Given the description of an element on the screen output the (x, y) to click on. 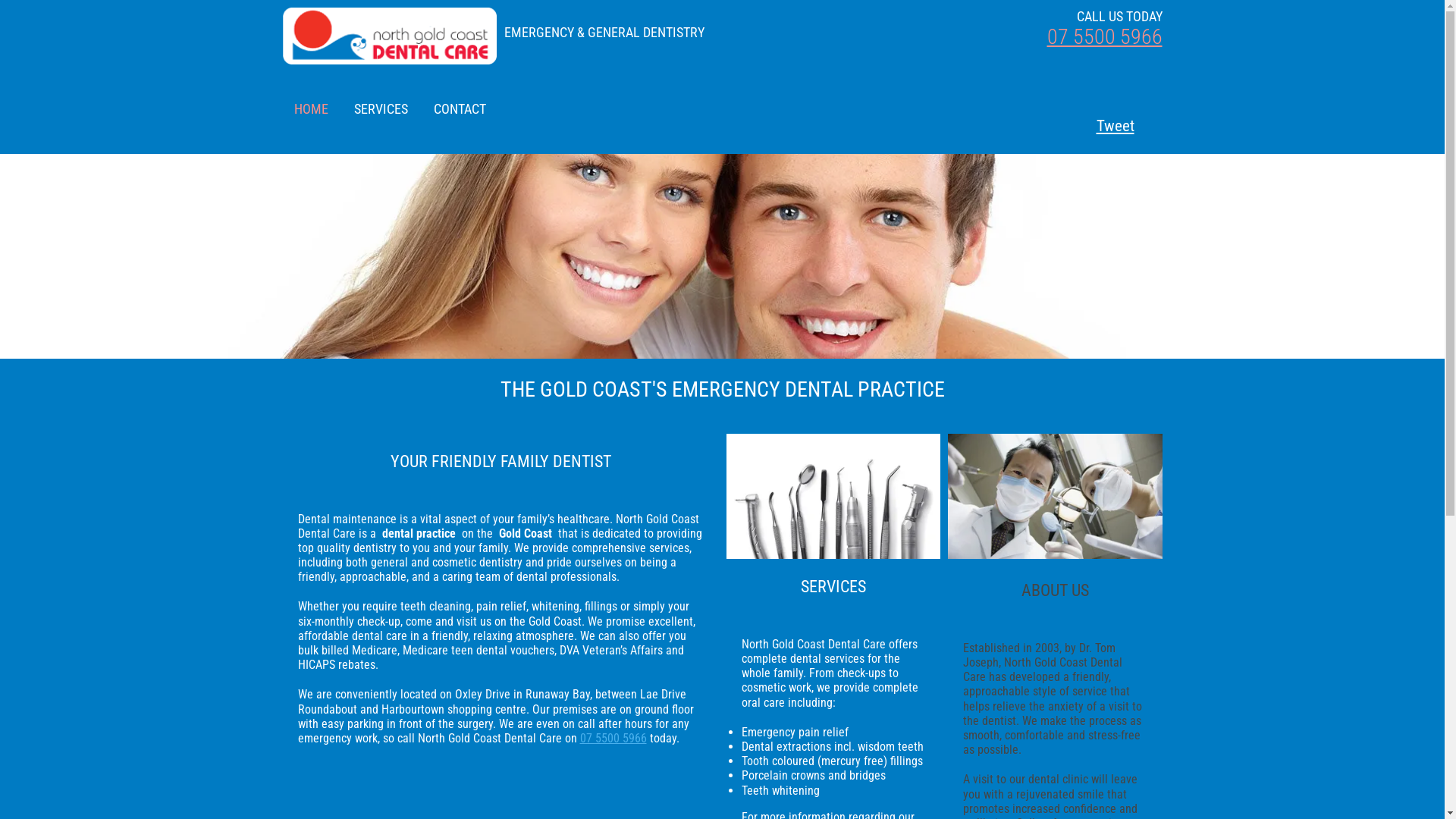
SERVICES Element type: text (380, 109)
CONTACT Element type: text (459, 109)
dentist-tools Element type: hover (833, 495)
north-gold-coast-dental-care-logo Element type: hover (389, 35)
07 5500 5966 Element type: text (612, 738)
Tweet Element type: text (1103, 125)
two-dentist-general-check Element type: hover (1054, 495)
07 5500 5966 Element type: text (1103, 36)
HOME Element type: text (311, 109)
